Given the description of an element on the screen output the (x, y) to click on. 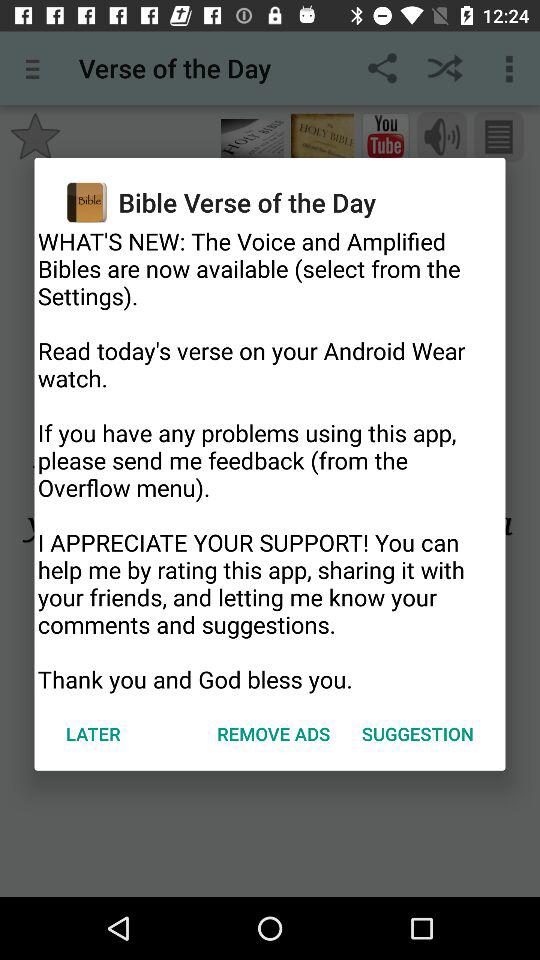
open icon to the right of the remove ads (417, 733)
